Given the description of an element on the screen output the (x, y) to click on. 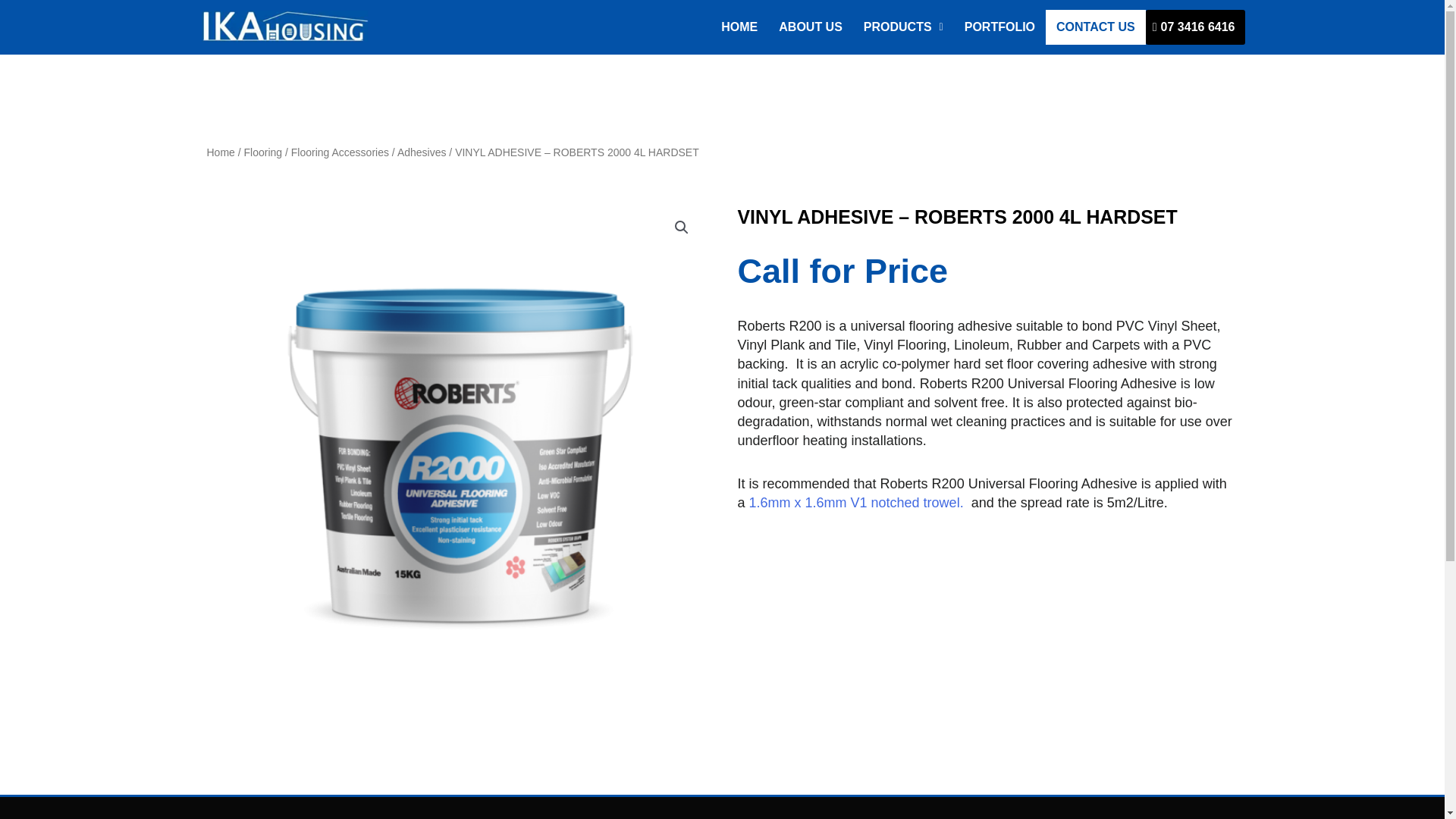
Flooring (263, 152)
Adhesives (421, 152)
07 3416 6416 (1195, 27)
CONTACT US (1095, 27)
Roberts 1.6mm V-Notch Trowel For Vinyl Flooring (858, 502)
1.6mm x 1.6mm V1 notched trowel.  (858, 502)
Flooring Accessories (339, 152)
PRODUCTS (903, 27)
ABOUT US (810, 27)
PORTFOLIO (999, 27)
HOME (739, 27)
Home (220, 152)
